Given the description of an element on the screen output the (x, y) to click on. 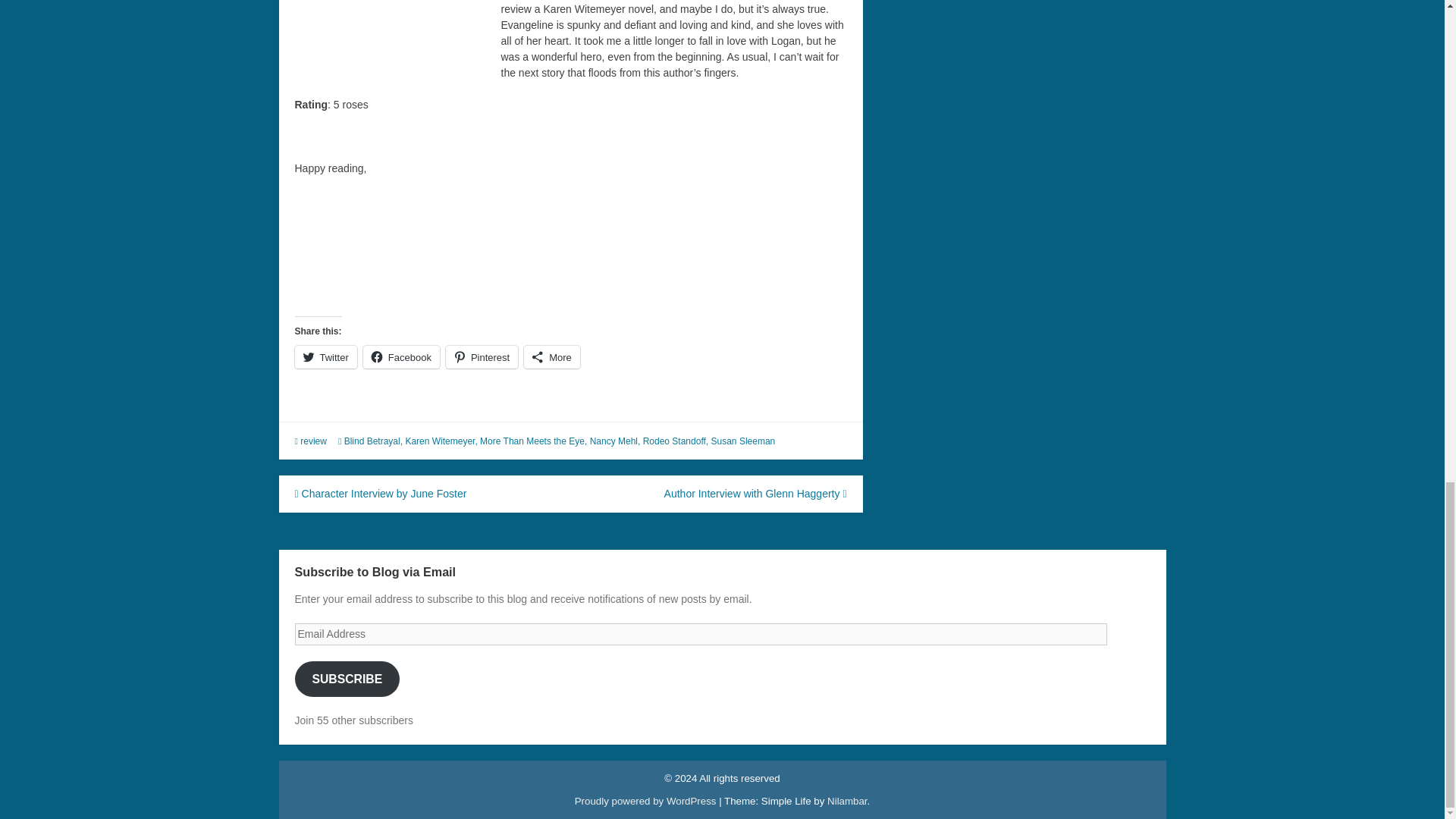
More (551, 356)
Click to share on Twitter (325, 356)
Blind Betrayal (371, 440)
Click to share on Facebook (400, 356)
Twitter (325, 356)
Author Interview with Glenn Haggerty (755, 493)
review (312, 440)
Click to share on Pinterest (481, 356)
Susan Sleeman (743, 440)
Rodeo Standoff (674, 440)
Character Interview by June Foster (379, 493)
More Than Meets the Eye (532, 440)
Pinterest (481, 356)
Nancy Mehl (613, 440)
Facebook (400, 356)
